Given the description of an element on the screen output the (x, y) to click on. 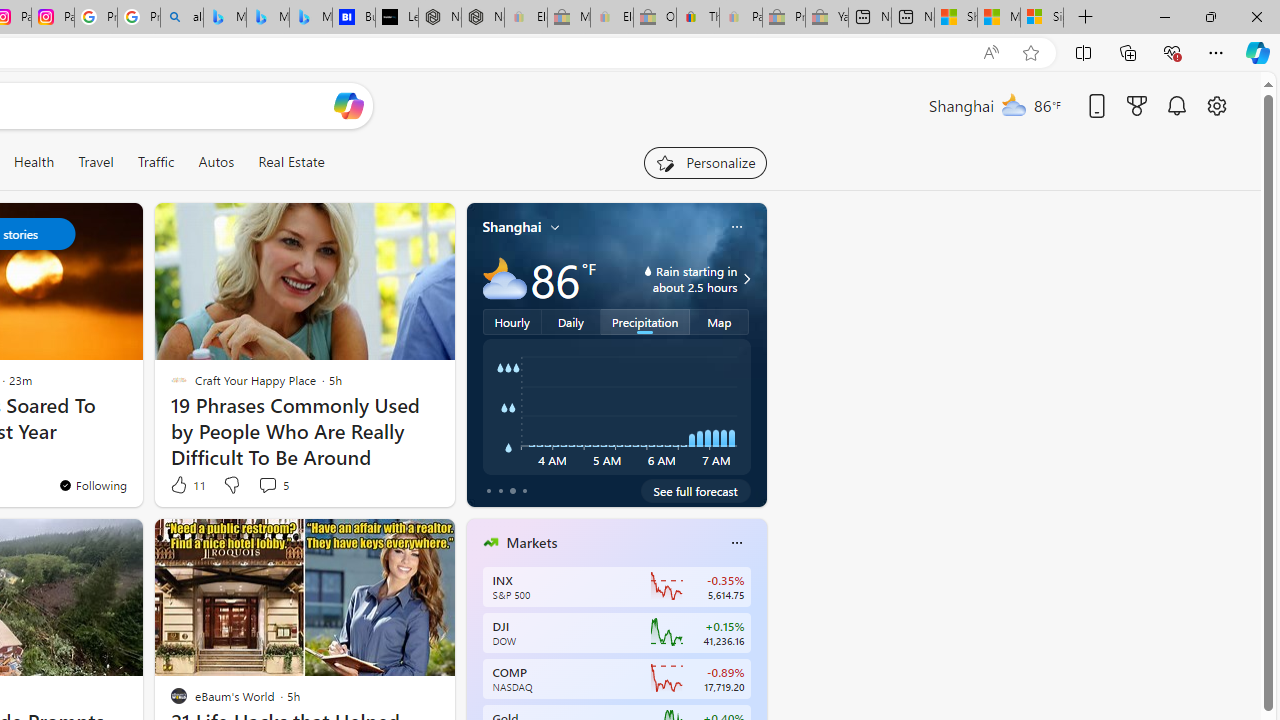
4 AM 5 AM 6 AM 7 AM (616, 407)
tab-1 (500, 490)
Rain starting in about 2.5 hours (744, 278)
Health (34, 161)
next (756, 670)
Microsoft Bing Travel - Shangri-La Hotel Bangkok (310, 17)
previous (476, 670)
Class: icon-img (736, 542)
